Given the description of an element on the screen output the (x, y) to click on. 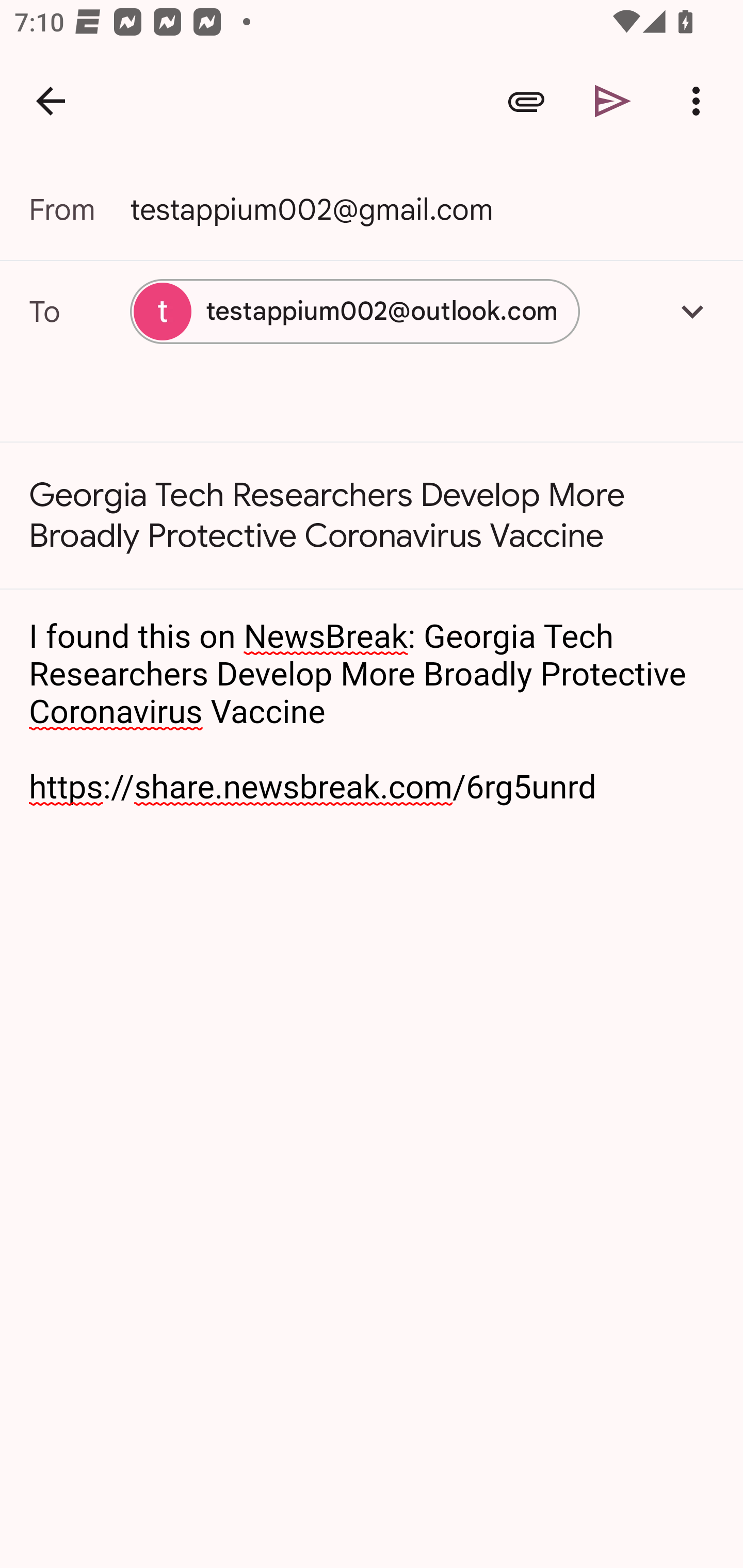
Navigate up (50, 101)
Attach file (525, 101)
Send (612, 101)
More options (699, 101)
From (79, 209)
Add Cc/Bcc (692, 311)
